Given the description of an element on the screen output the (x, y) to click on. 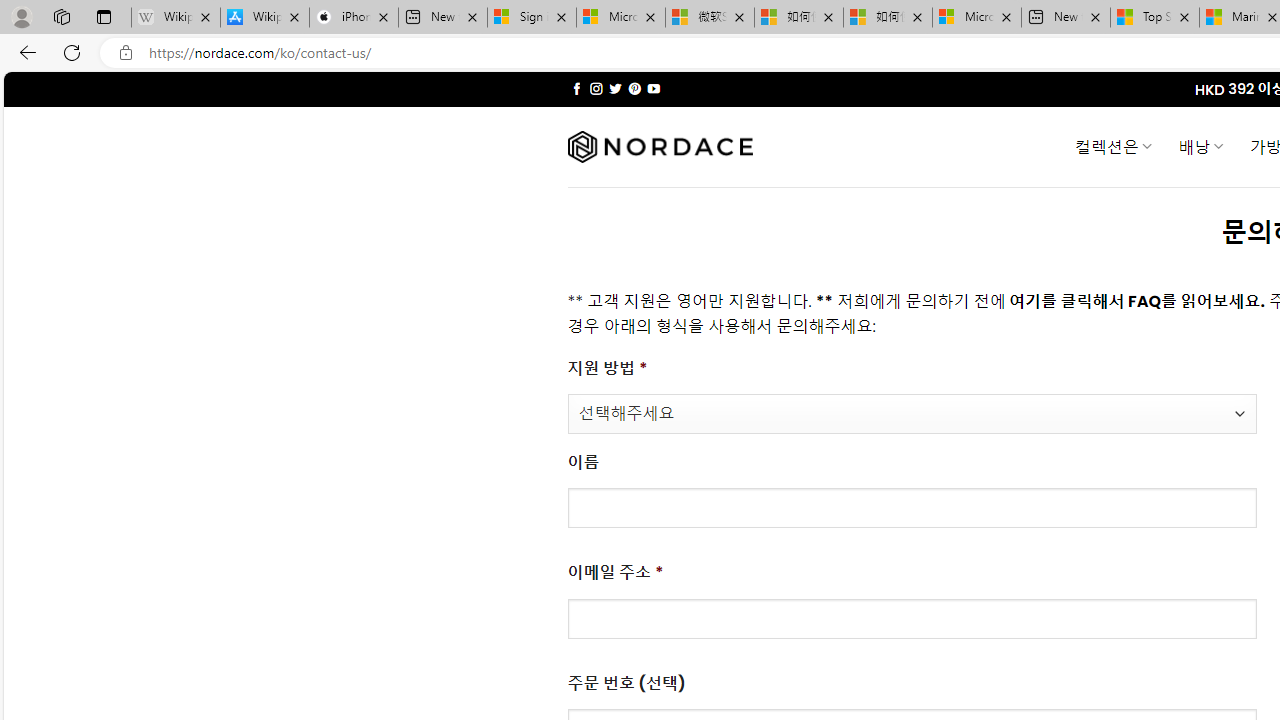
Follow on Twitter (615, 88)
Follow on Facebook (576, 88)
iPhone - Apple (353, 17)
Follow on YouTube (653, 88)
